Given the description of an element on the screen output the (x, y) to click on. 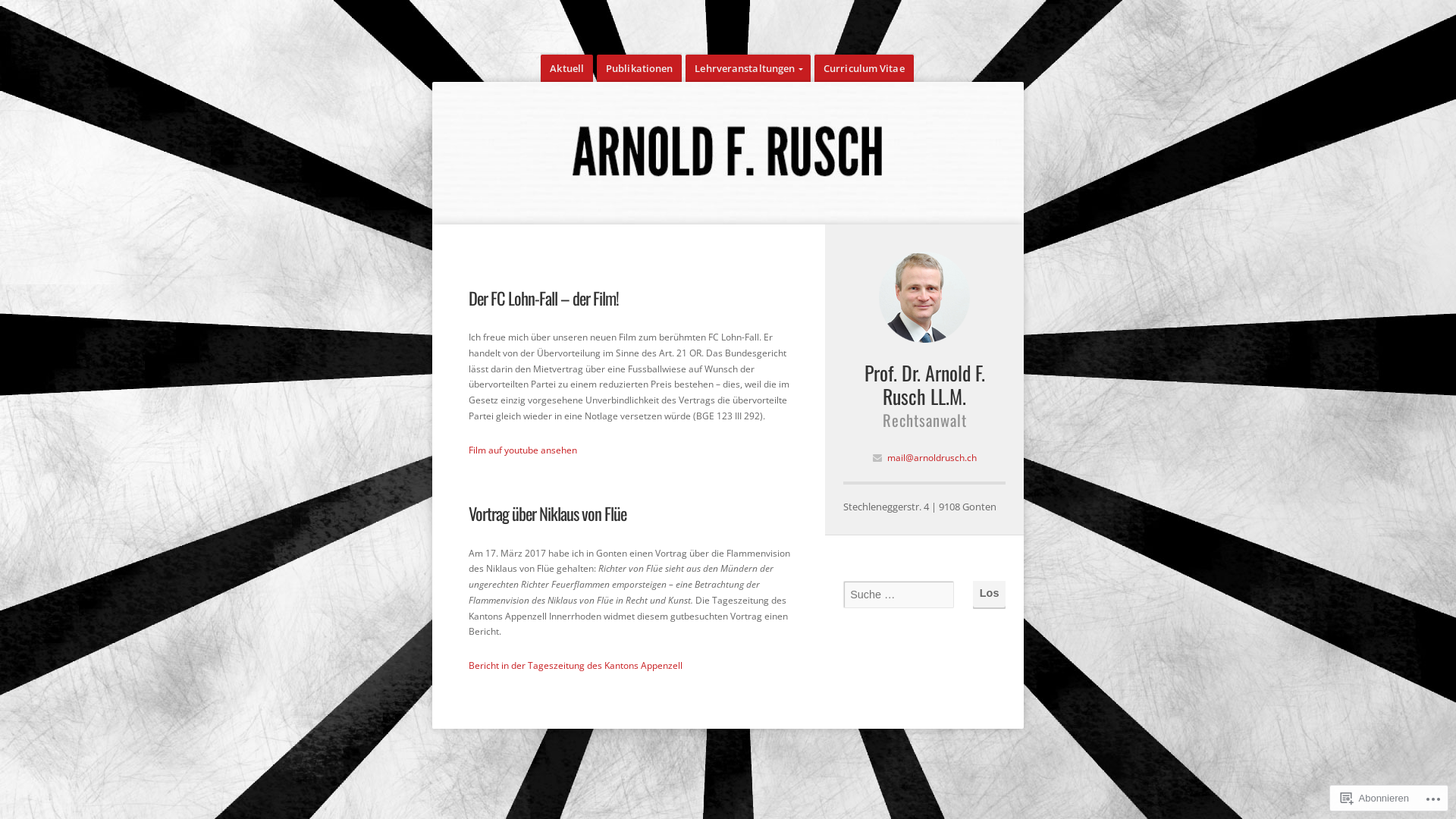
Los Element type: text (988, 592)
Publikationen Element type: text (638, 67)
Curriculum Vitae Element type: text (863, 67)
Lehrveranstaltungen Element type: text (747, 67)
Abonnieren Element type: text (1374, 797)
Film auf youtube ansehen Element type: text (522, 449)
mail@arnoldrusch.ch Element type: text (931, 457)
Aktuell Element type: text (566, 67)
Bericht in der Tageszeitung des Kantons Appenzell Element type: text (575, 665)
